Given the description of an element on the screen output the (x, y) to click on. 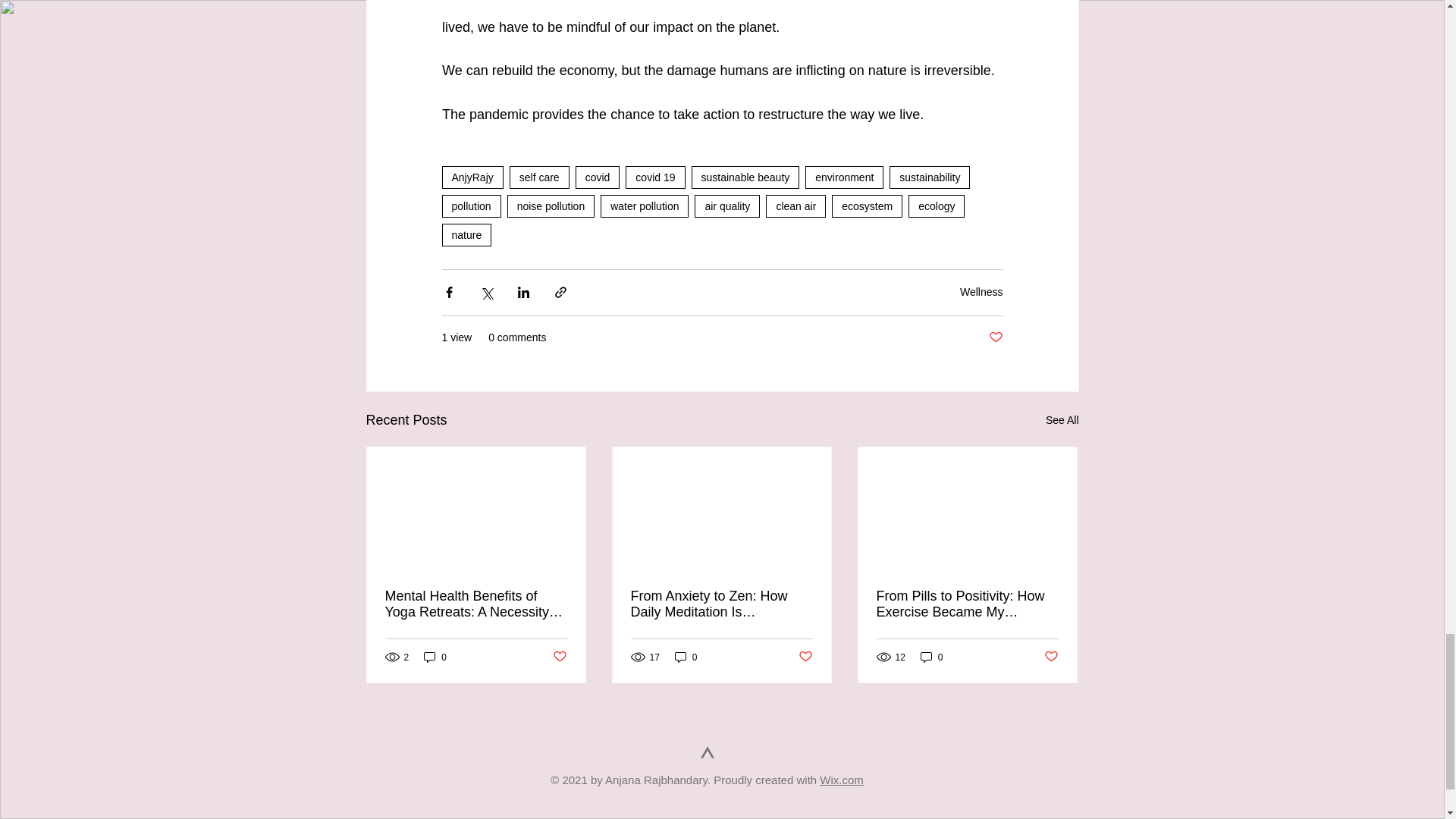
covid 19 (655, 177)
air quality (727, 205)
covid (597, 177)
sustainable beauty (745, 177)
ecology (935, 205)
ecosystem (866, 205)
self care (539, 177)
environment (844, 177)
nature (466, 234)
water pollution (643, 205)
